Given the description of an element on the screen output the (x, y) to click on. 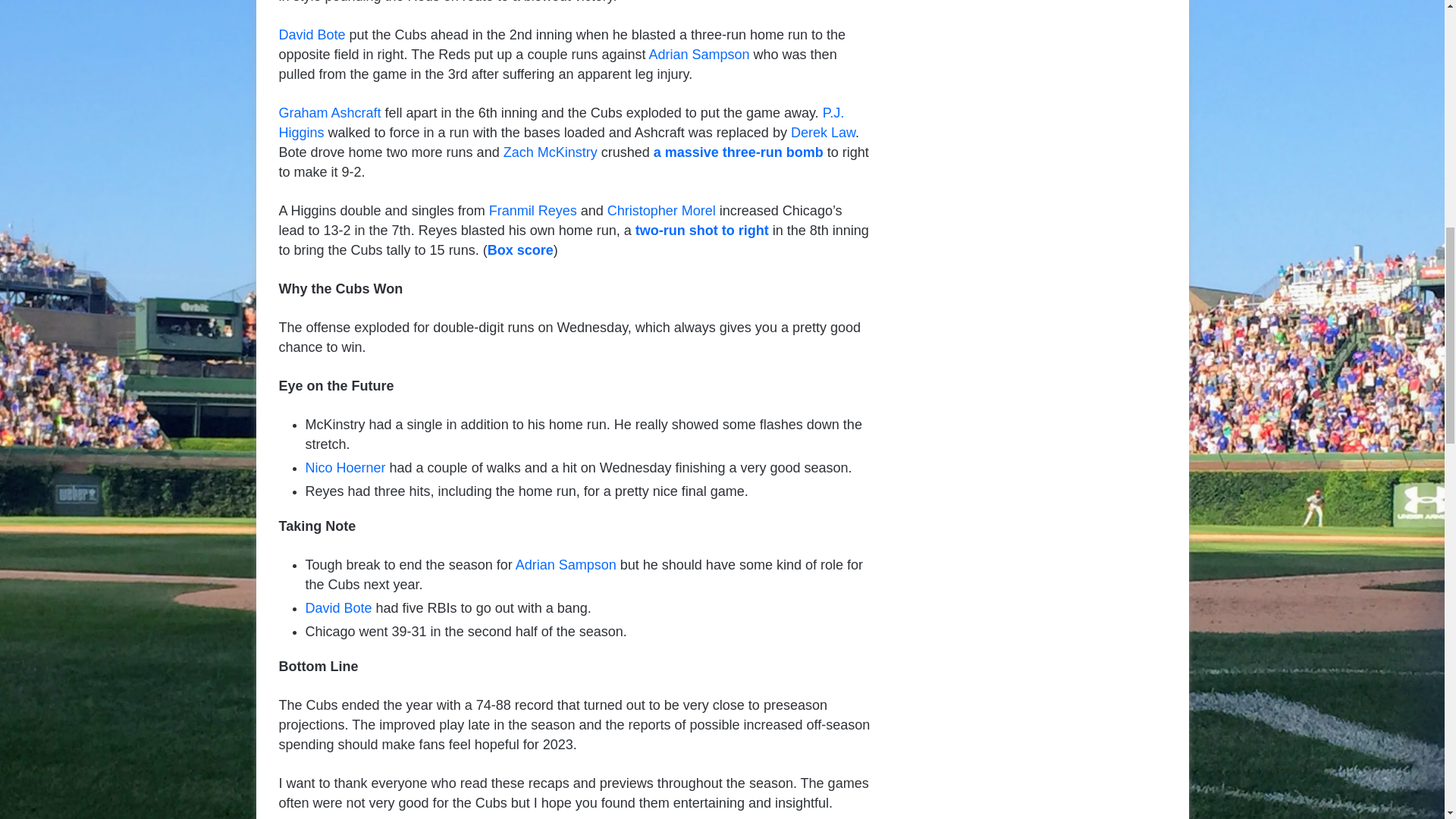
David Bote (312, 34)
Graham Ashcraft (330, 112)
Adrian Sampson (699, 54)
